Given the description of an element on the screen output the (x, y) to click on. 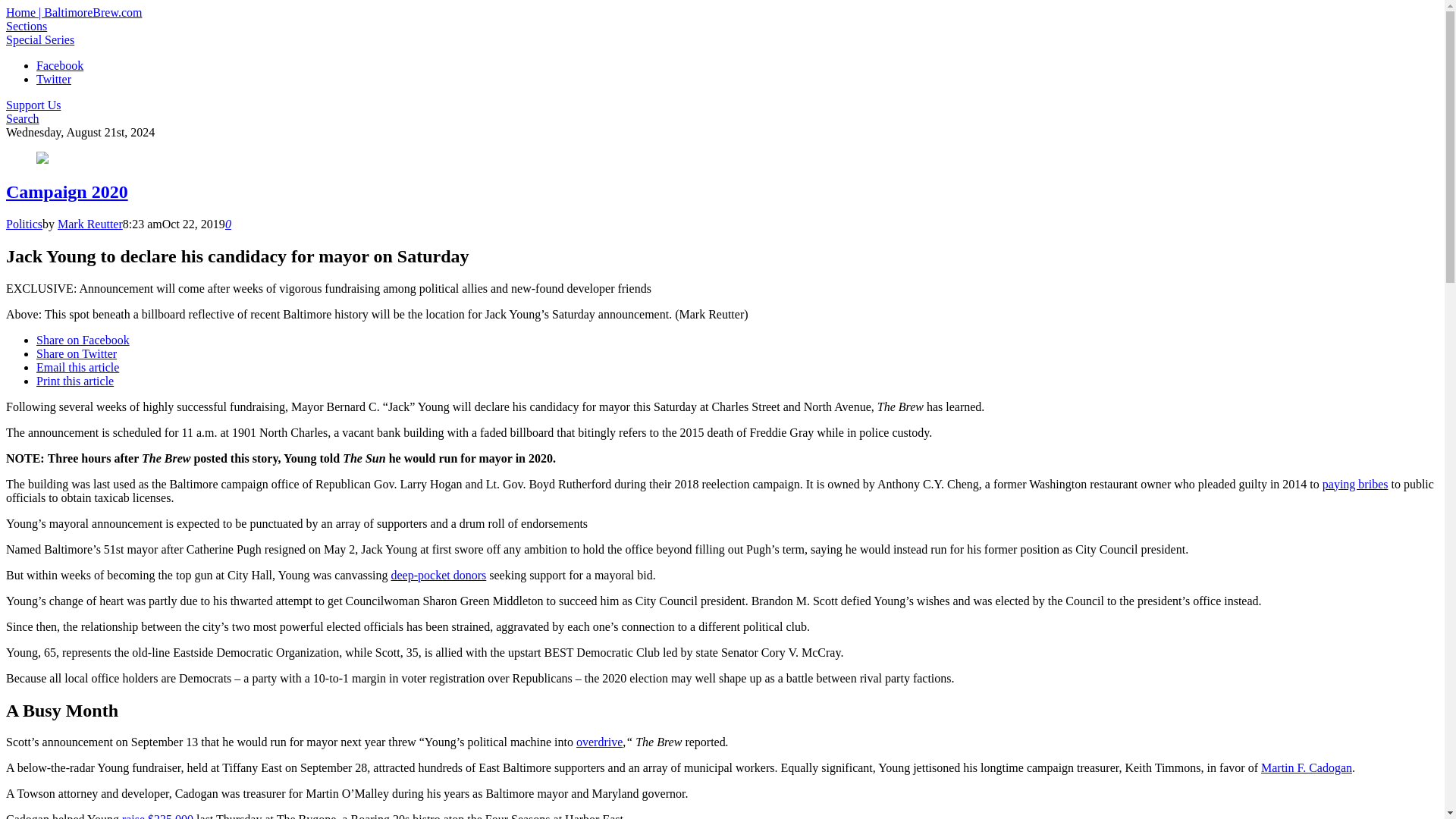
Search (22, 118)
Sections (25, 25)
Martin F. Cadogan (1306, 767)
Share on Facebook (82, 339)
Twitter (53, 78)
deep-pocket donors (438, 574)
Share on Twitter (76, 353)
Support Us (33, 104)
Mark Reutter (90, 223)
Facebook (59, 65)
